Given the description of an element on the screen output the (x, y) to click on. 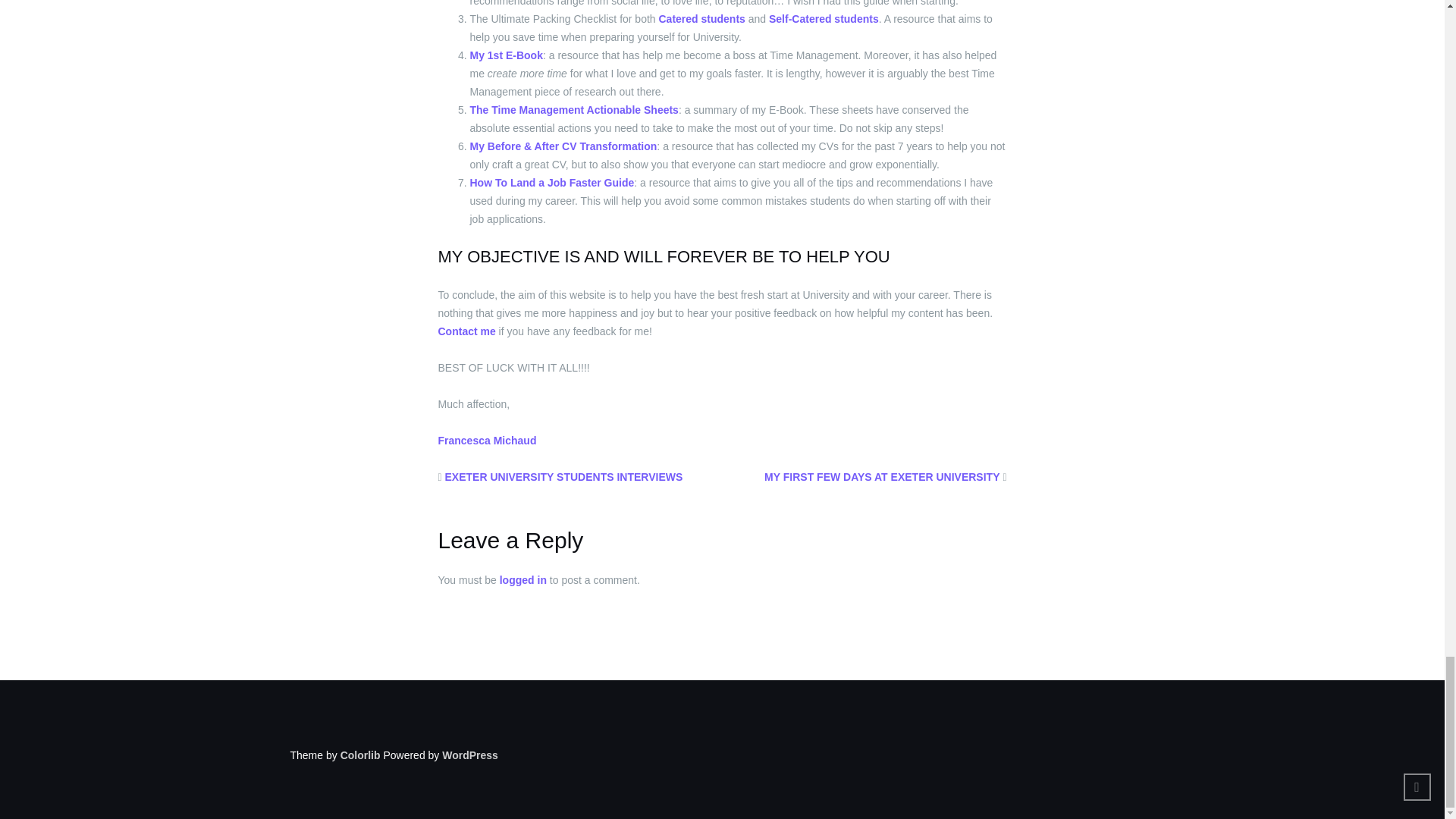
Self-Catered students (823, 19)
EXETER UNIVERSITY STUDENTS INTERVIEWS (563, 476)
Francesca Michaud (487, 440)
How To Land a Job Faster Guide (552, 182)
Contact me (467, 331)
MY FIRST FEW DAYS AT EXETER UNIVERSITY (881, 476)
Catered students (701, 19)
The Time Management Actionable Sheets (574, 110)
My 1st E-Book (506, 55)
